Given the description of an element on the screen output the (x, y) to click on. 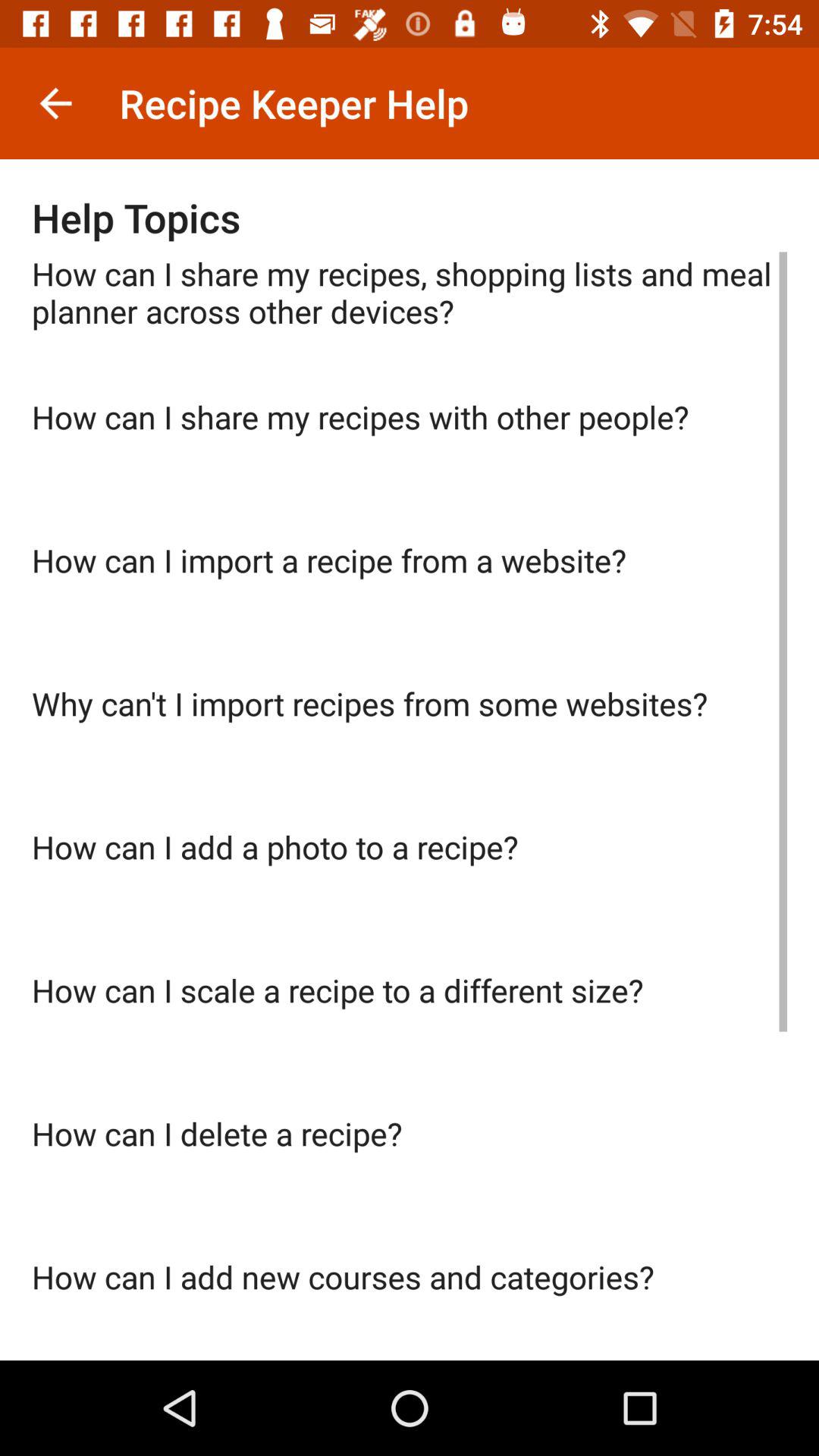
click the item above the how can i icon (409, 753)
